Given the description of an element on the screen output the (x, y) to click on. 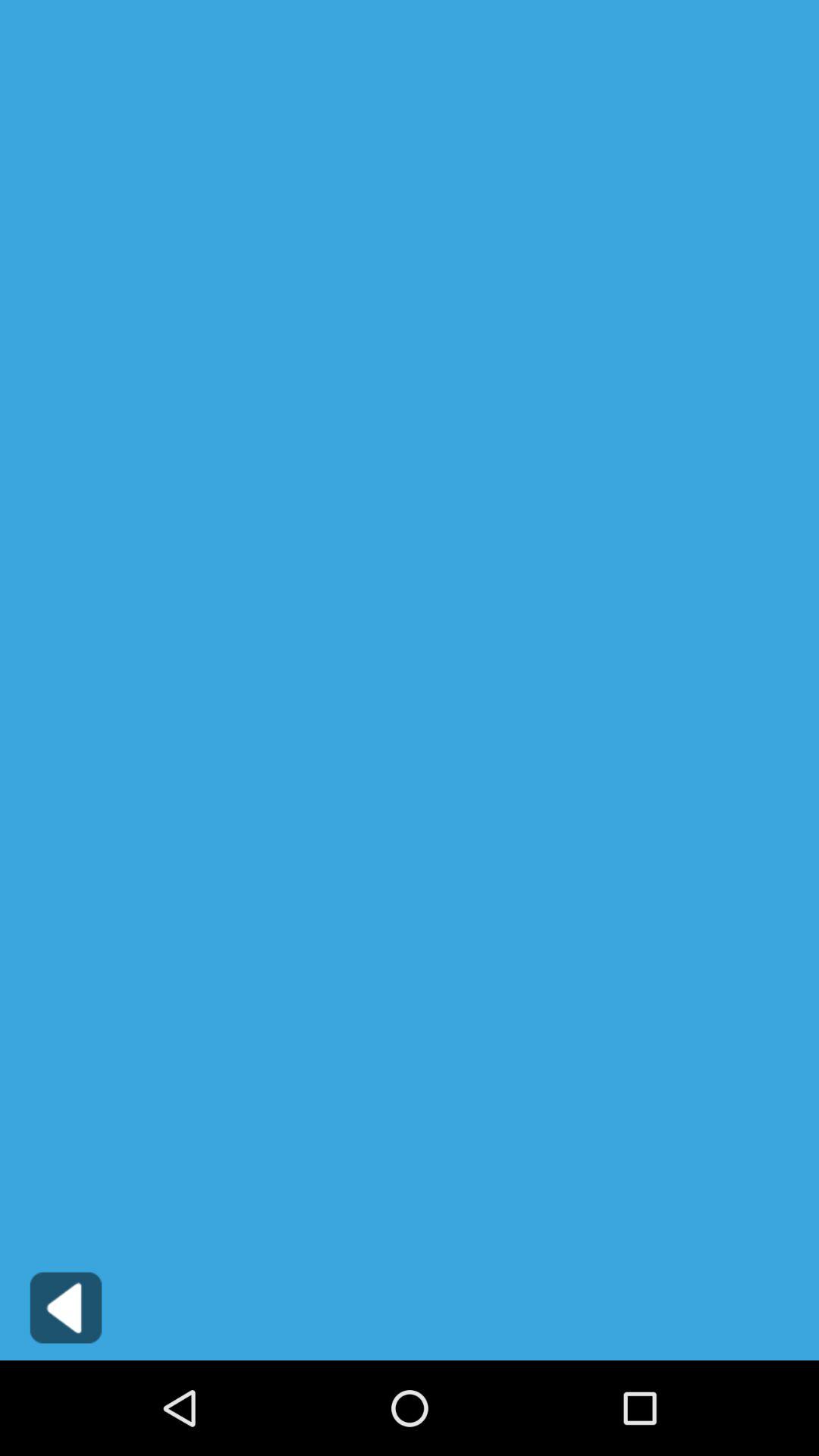
go back (65, 1307)
